Given the description of an element on the screen output the (x, y) to click on. 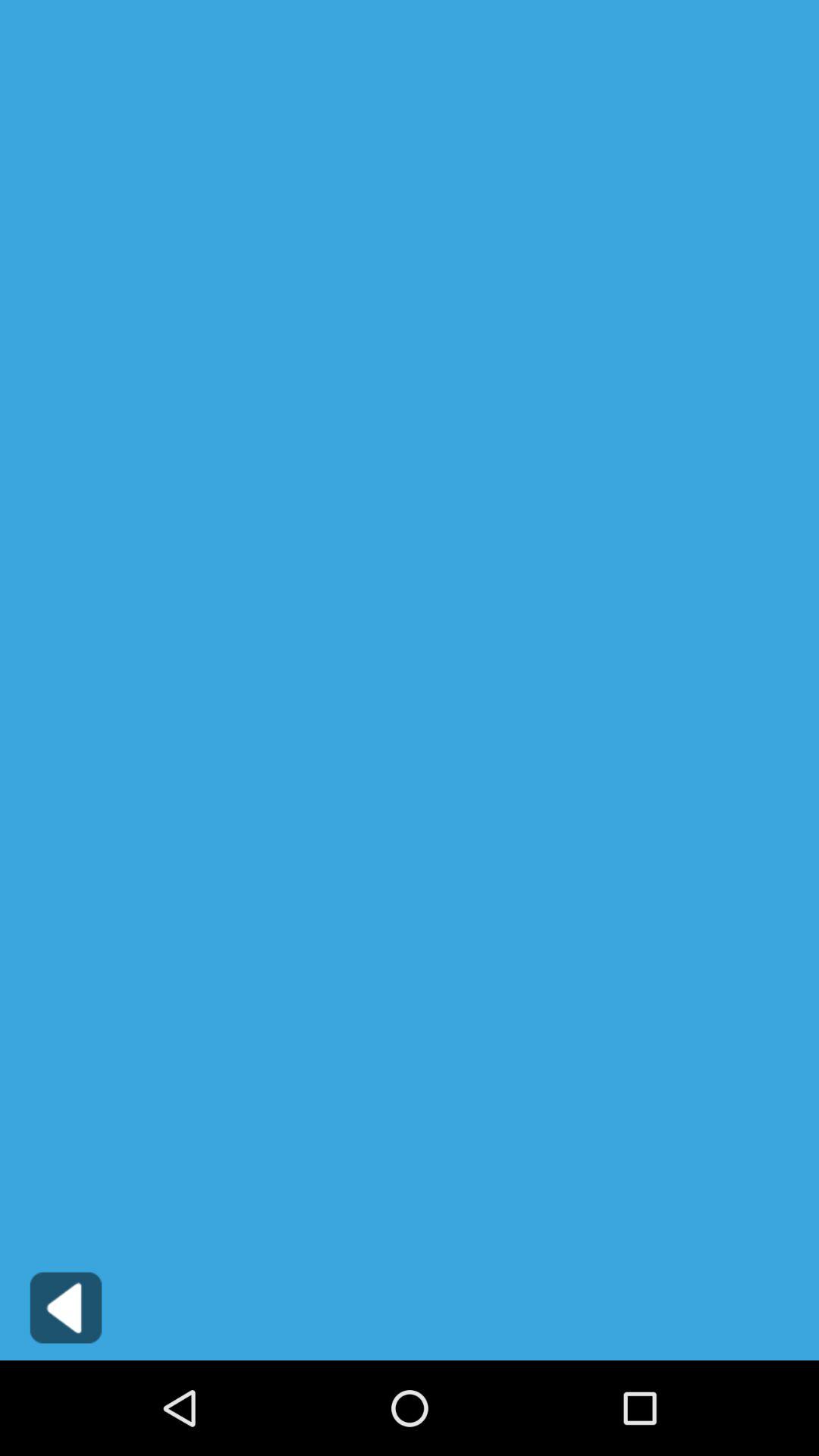
go back (65, 1307)
